Given the description of an element on the screen output the (x, y) to click on. 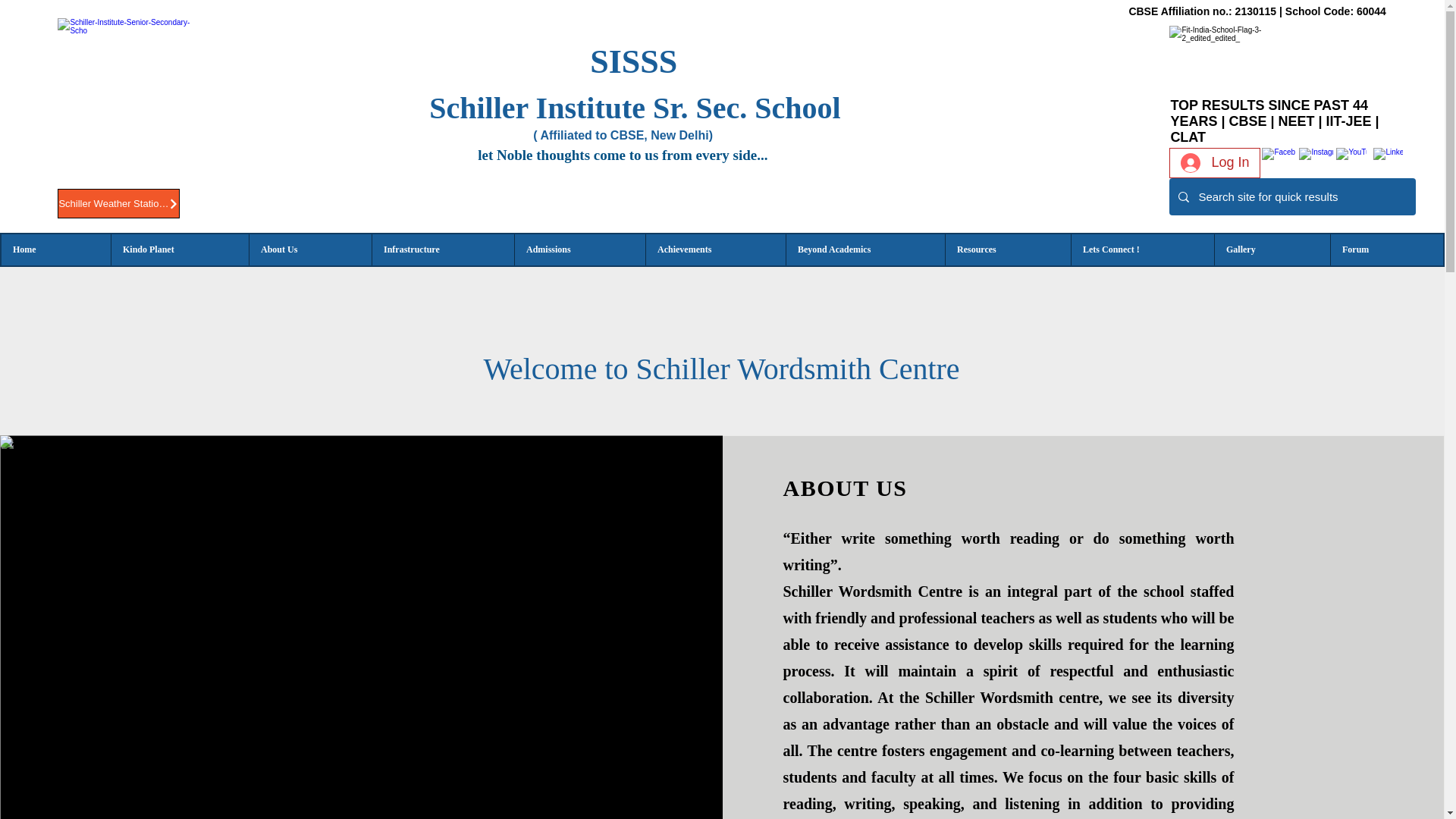
Log In (1214, 162)
Kindo Planet (179, 249)
Home (55, 249)
Infrastructure (442, 249)
Schiller Weather Station Live Data ! (118, 203)
